Given the description of an element on the screen output the (x, y) to click on. 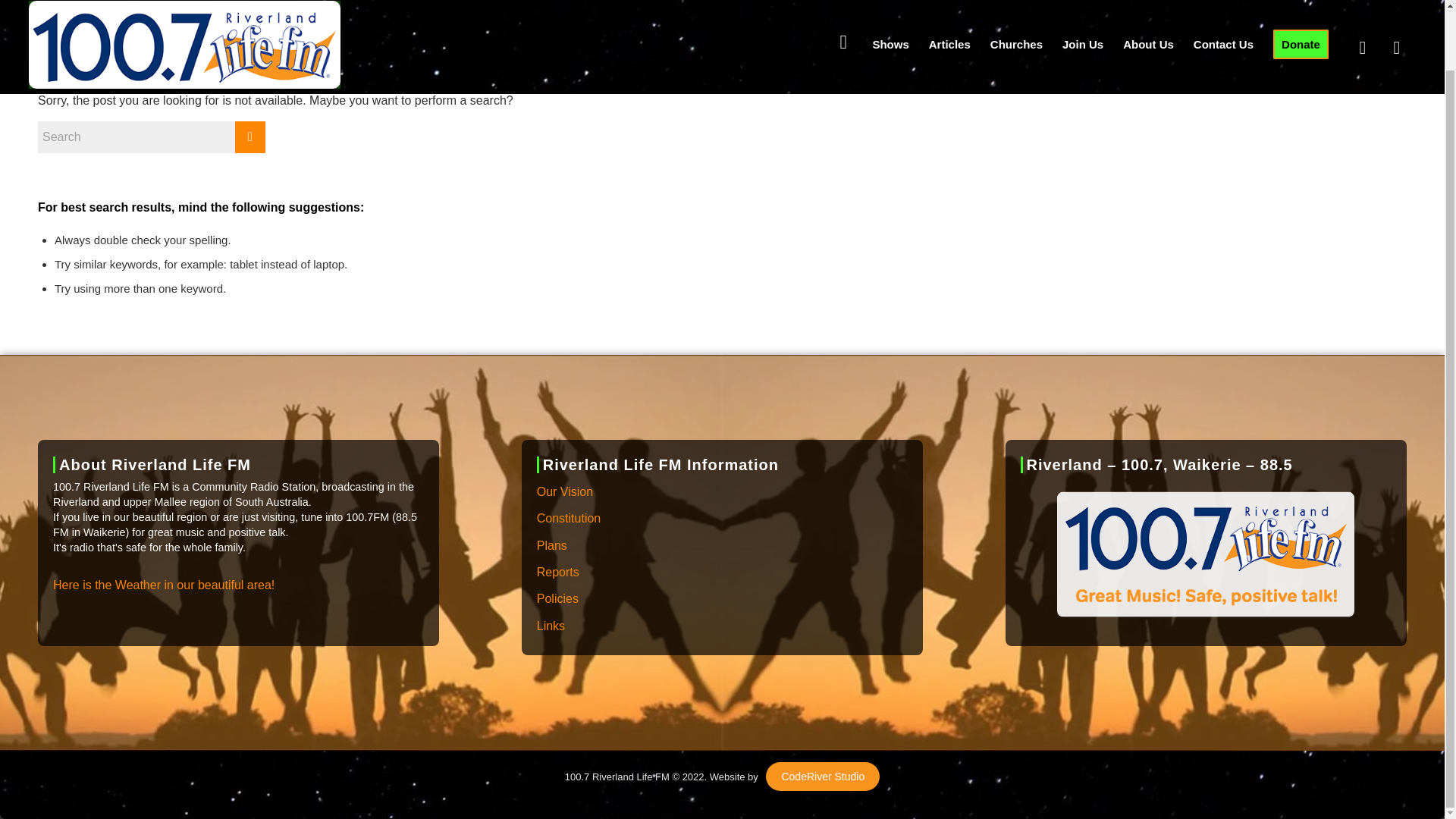
Contact Us (1223, 11)
Articles (948, 11)
Join Us (1082, 11)
Constitution (722, 519)
Our Vision (722, 492)
Here is the Weather in our beautiful area! (163, 585)
Churches (1015, 11)
Shows (889, 11)
Plans (722, 546)
About Us (1148, 11)
Donate (1300, 11)
